Given the description of an element on the screen output the (x, y) to click on. 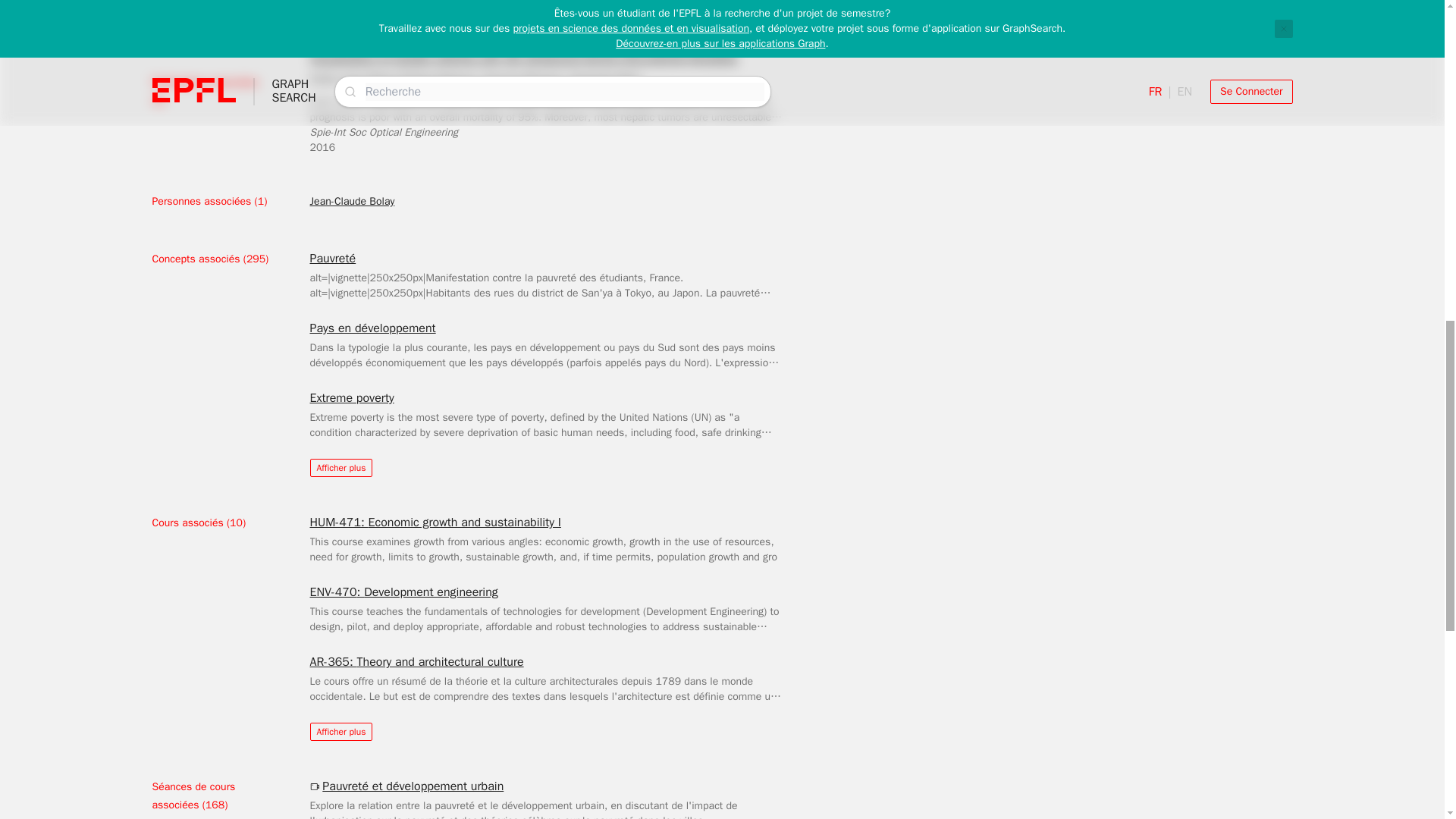
Alexandre Bigot (604, 77)
Jean-Claude Bolay (351, 201)
Extreme poverty (350, 398)
